Given the description of an element on the screen output the (x, y) to click on. 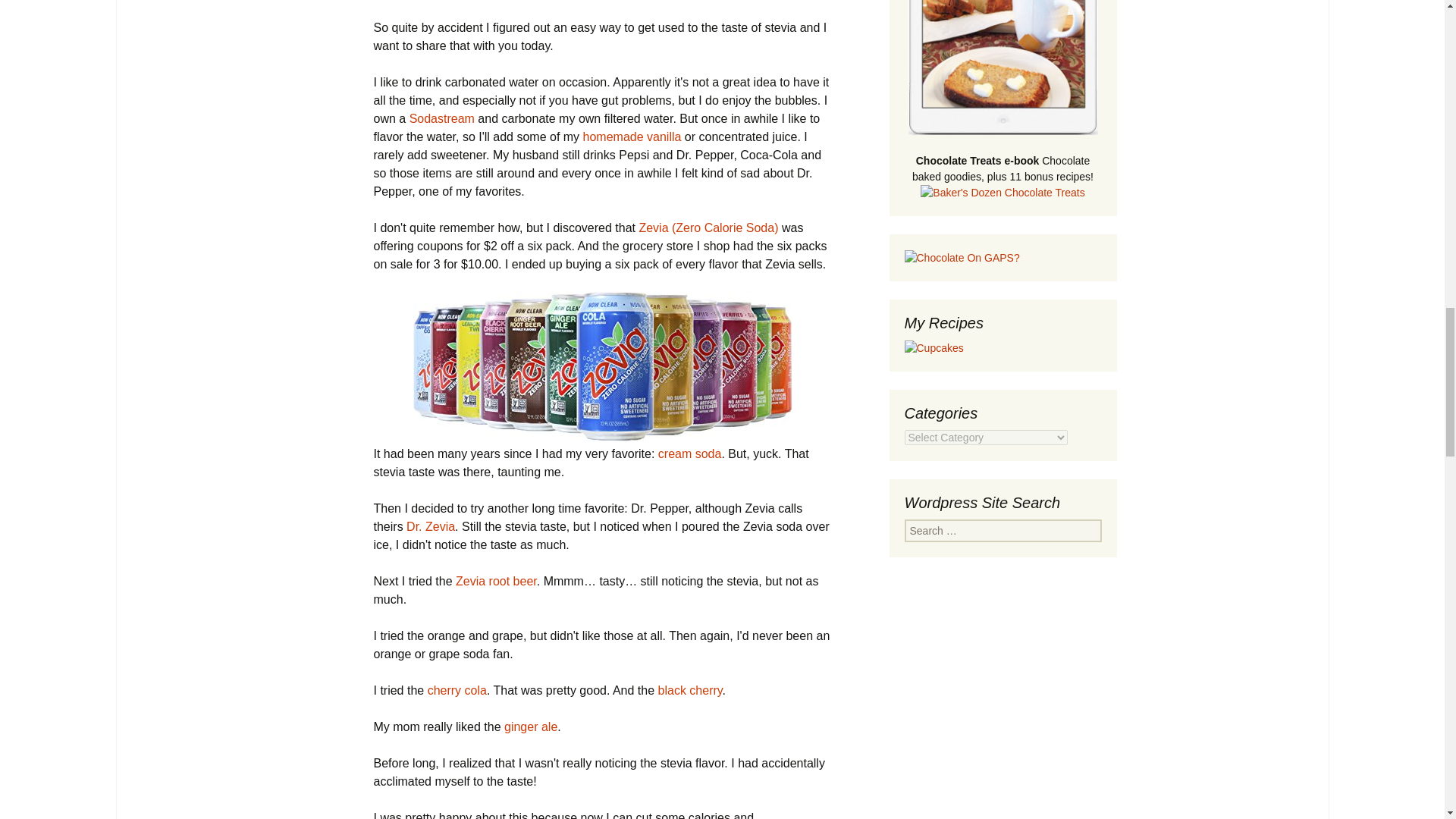
homemade vanilla (632, 136)
black cherry (690, 689)
cherry cola (457, 689)
Dr. Zevia (430, 526)
Zevia root beer (496, 581)
ginger ale (530, 726)
cream soda (690, 453)
Sodastream (441, 118)
